Given the description of an element on the screen output the (x, y) to click on. 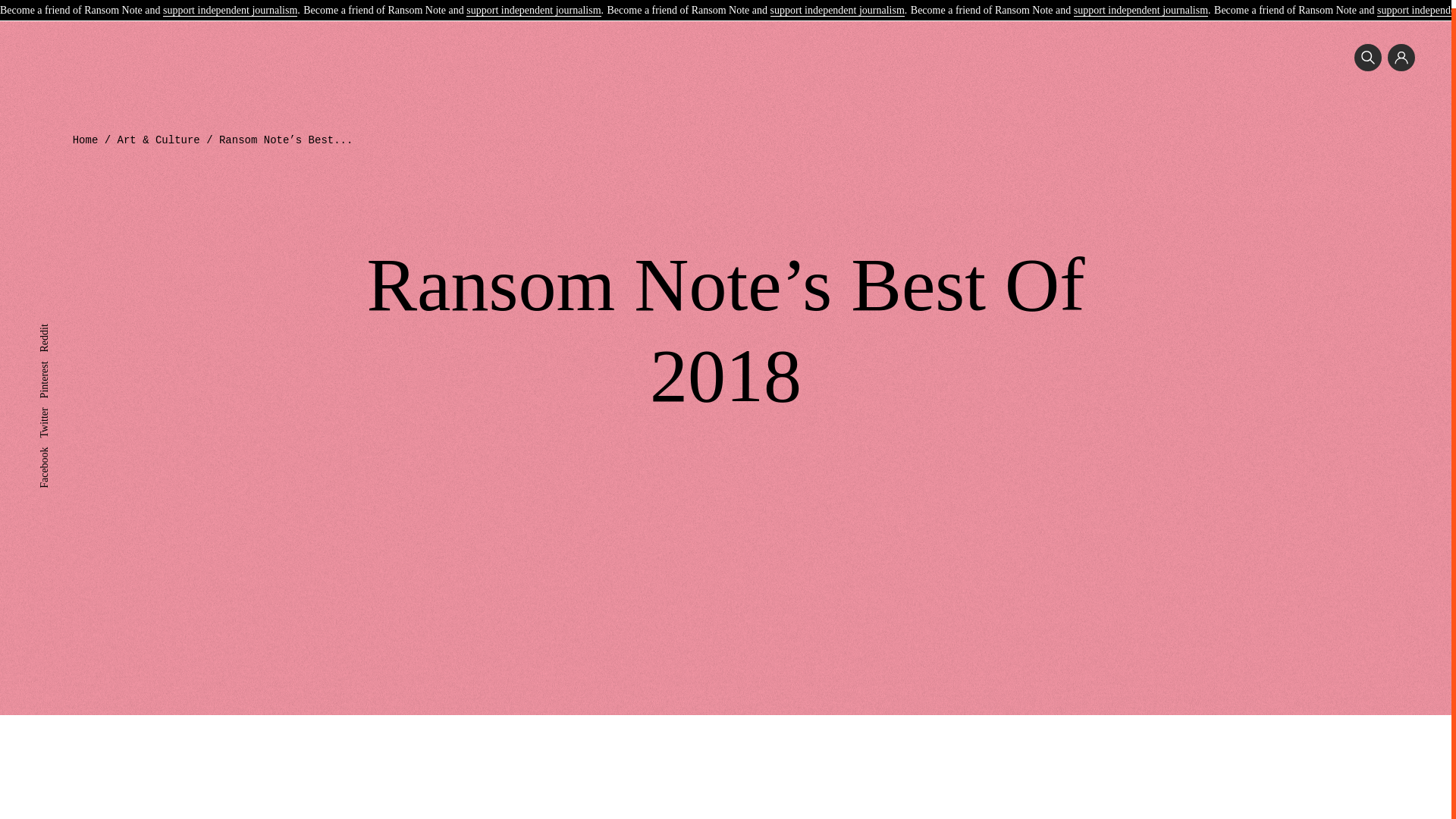
Twitter (53, 404)
Home (85, 140)
Pinterest (57, 358)
support independent journalism (1141, 4)
Facebook (59, 444)
Reddit (52, 321)
support independent journalism (230, 4)
support independent journalism (837, 4)
support independent journalism (532, 4)
